Given the description of an element on the screen output the (x, y) to click on. 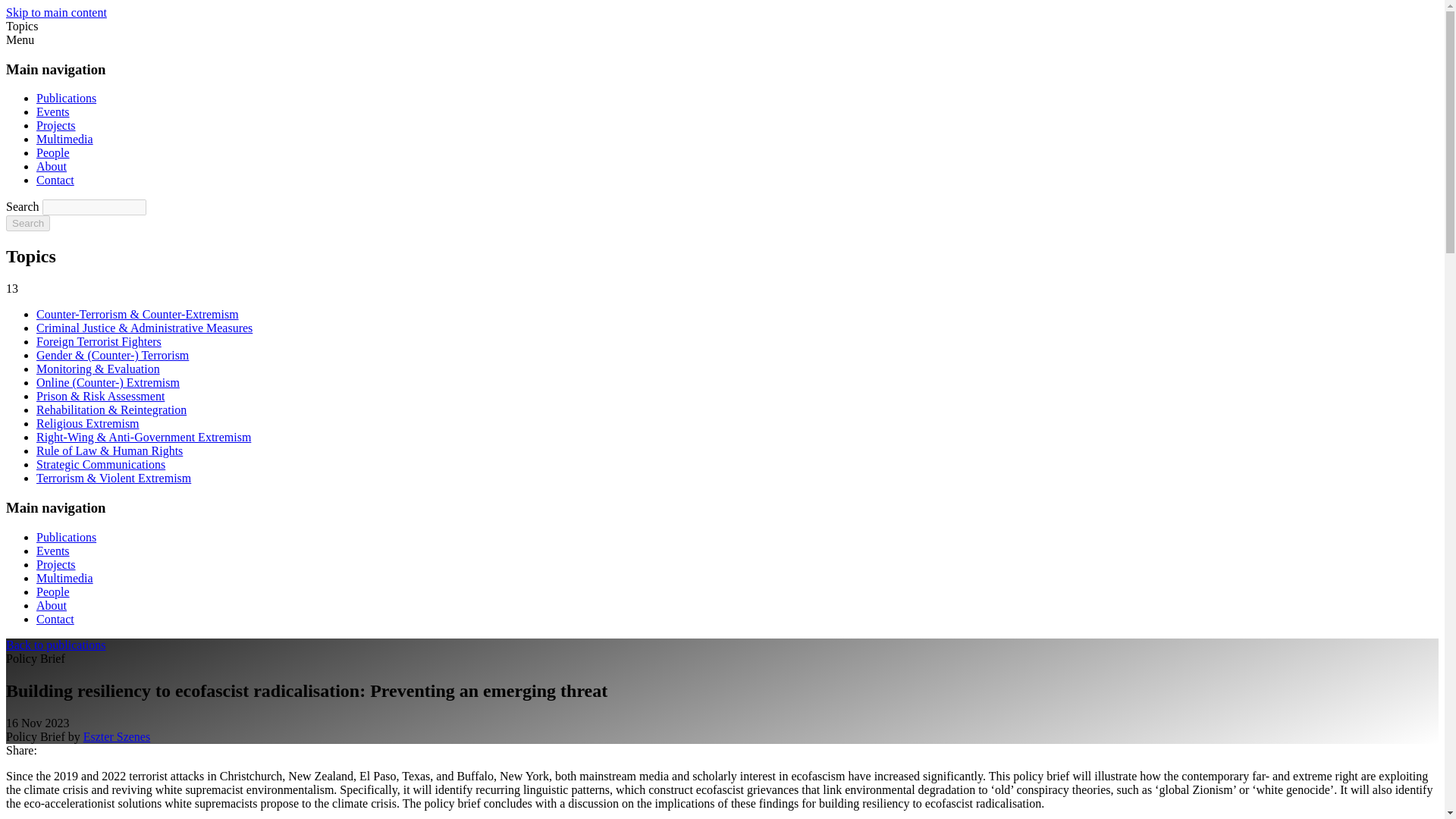
Events (52, 550)
Multimedia (64, 577)
Projects (55, 563)
People (52, 152)
About (51, 165)
Enter the terms you wish to search for. (94, 207)
Eszter Szenes (115, 735)
Multimedia (64, 138)
Foreign Terrorist Fighters (98, 341)
About (51, 604)
People (52, 591)
Skip to main content (55, 11)
Search (27, 222)
Contact (55, 618)
Contact (55, 179)
